Given the description of an element on the screen output the (x, y) to click on. 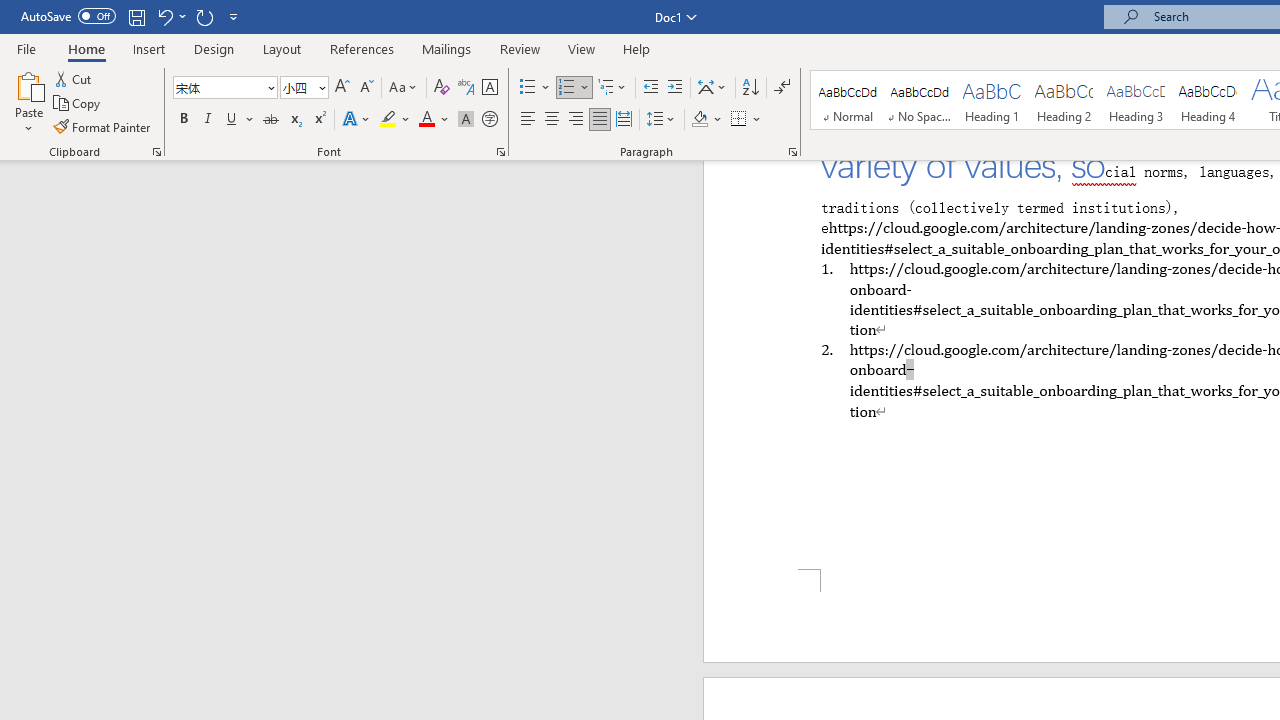
Enclose Characters... (489, 119)
Quick Access Toolbar (131, 16)
System (10, 11)
Clear Formatting (442, 87)
Heading 1 (991, 100)
Grow Font (342, 87)
Text Effects and Typography (357, 119)
Design (214, 48)
Center (552, 119)
Multilevel List (613, 87)
Shading (706, 119)
Font... (500, 151)
More Options (757, 119)
Copy (78, 103)
